Given the description of an element on the screen output the (x, y) to click on. 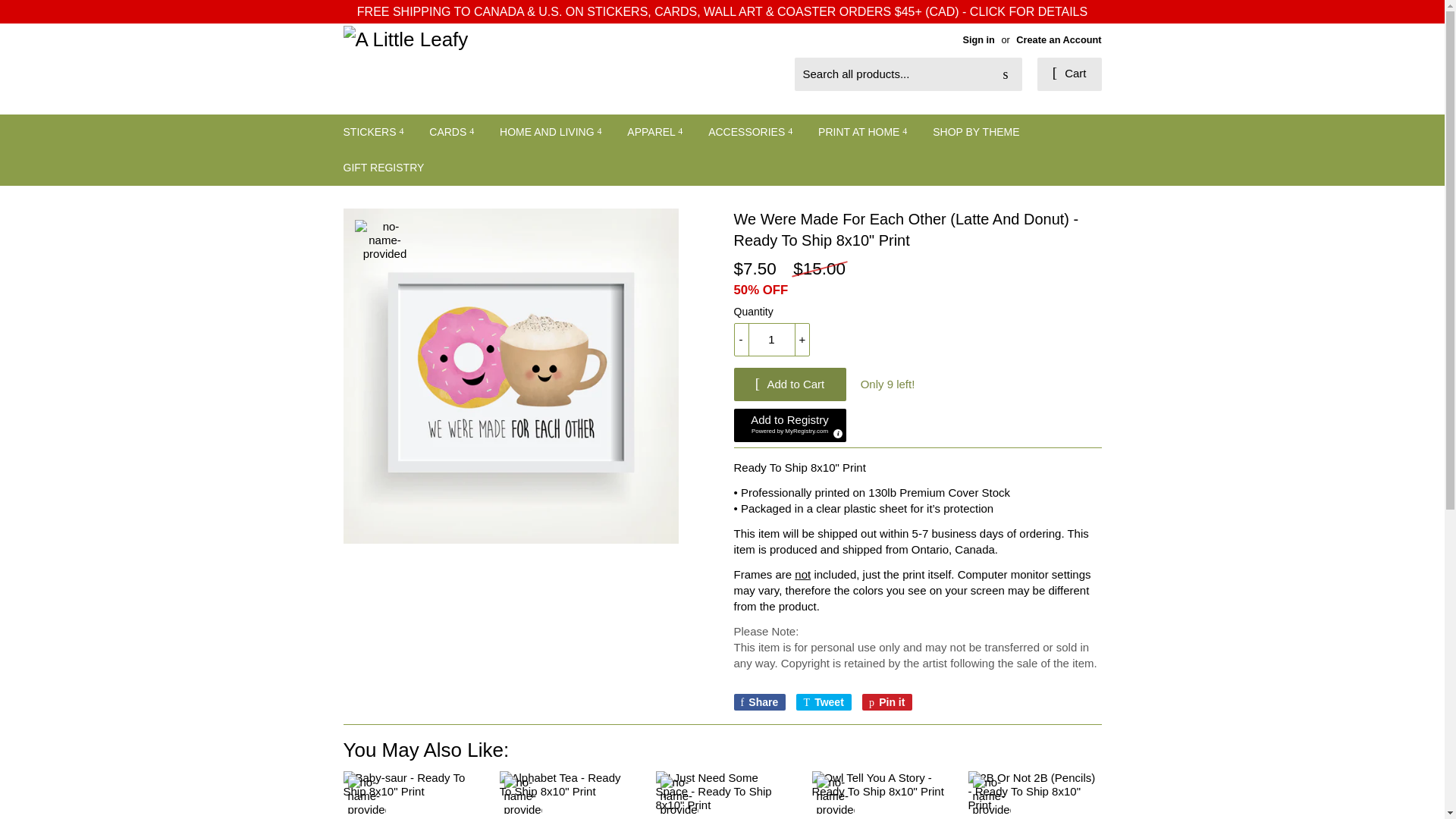
Sign in (978, 39)
1 (771, 339)
Cart (1069, 73)
Search (1005, 74)
Tweet on Twitter (823, 701)
Create an Account (1058, 39)
Pin on Pinterest (886, 701)
Share on Facebook (759, 701)
